Given the description of an element on the screen output the (x, y) to click on. 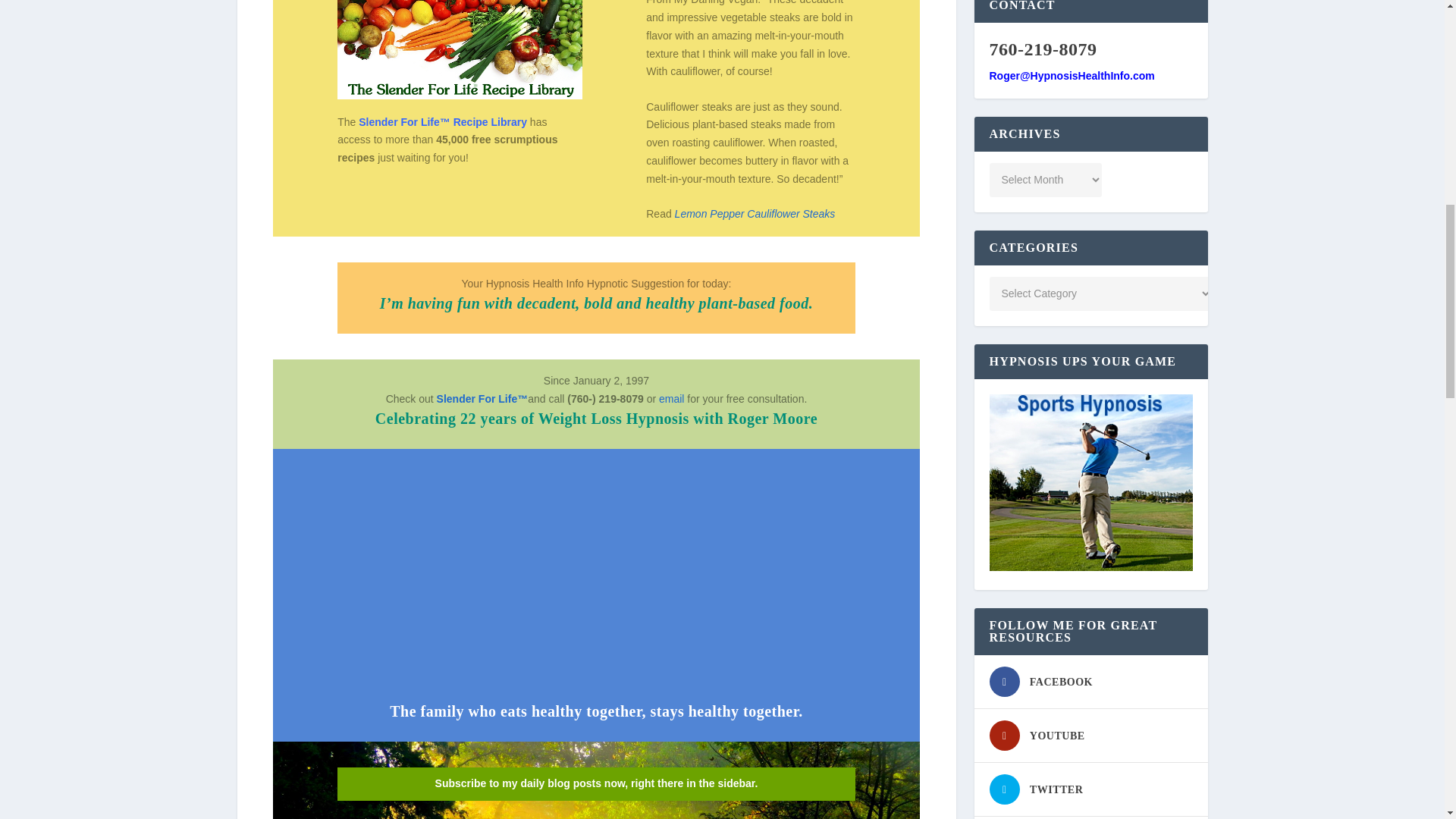
Slender For Life (482, 398)
